Given the description of an element on the screen output the (x, y) to click on. 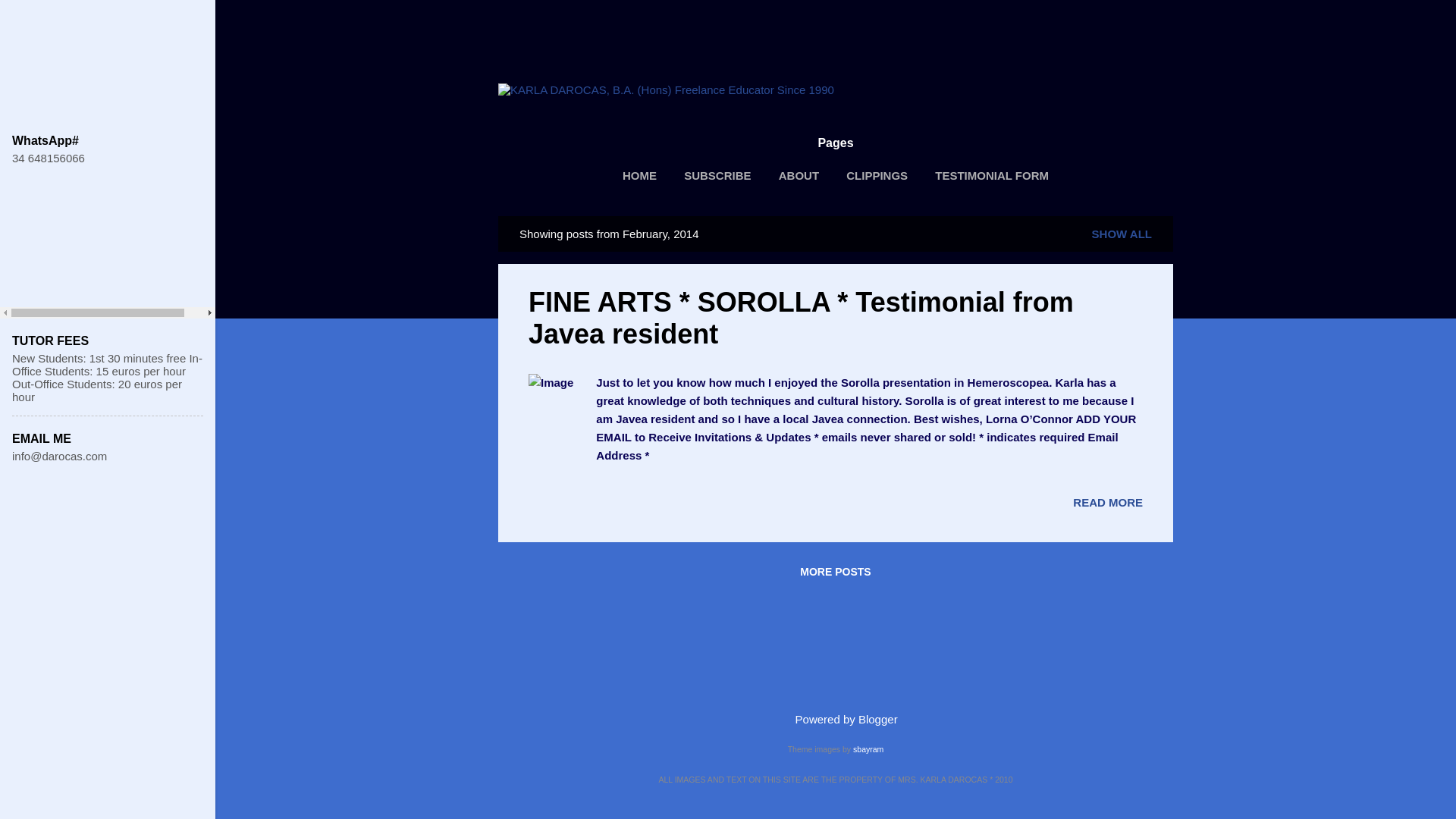
CLIPPINGS (877, 175)
TESTIMONIAL FORM (991, 175)
READ MORE (1107, 502)
Powered by Blogger (834, 718)
Search (29, 18)
sbayram (868, 748)
More posts (834, 571)
MORE POSTS (834, 571)
SHOW ALL (1121, 233)
SUBSCRIBE (717, 175)
